Given the description of an element on the screen output the (x, y) to click on. 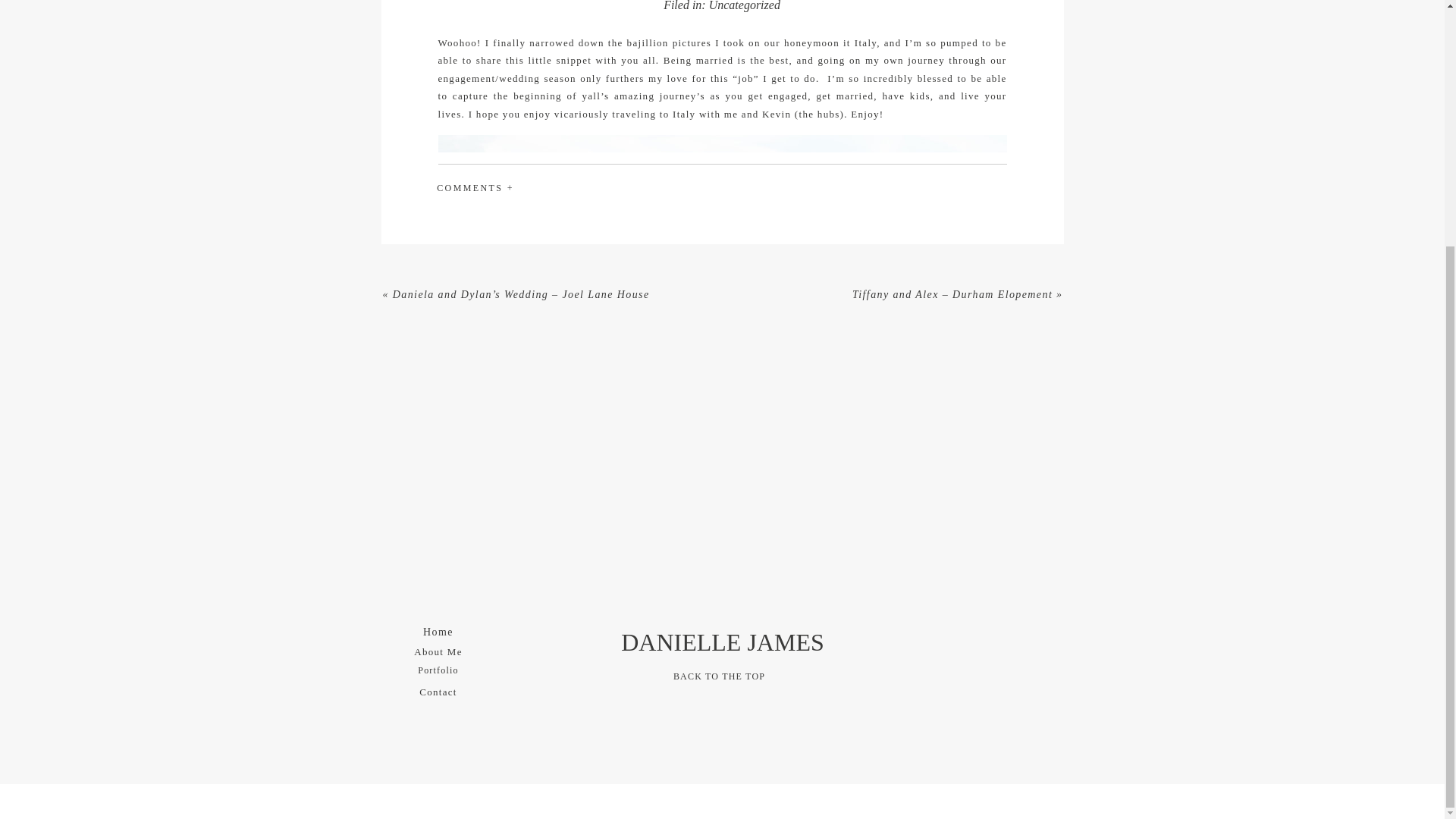
BACK TO THE TOP (719, 678)
Portfolio (438, 669)
About Me (438, 649)
Contact (438, 690)
Uncategorized (744, 5)
Home (438, 629)
